Given the description of an element on the screen output the (x, y) to click on. 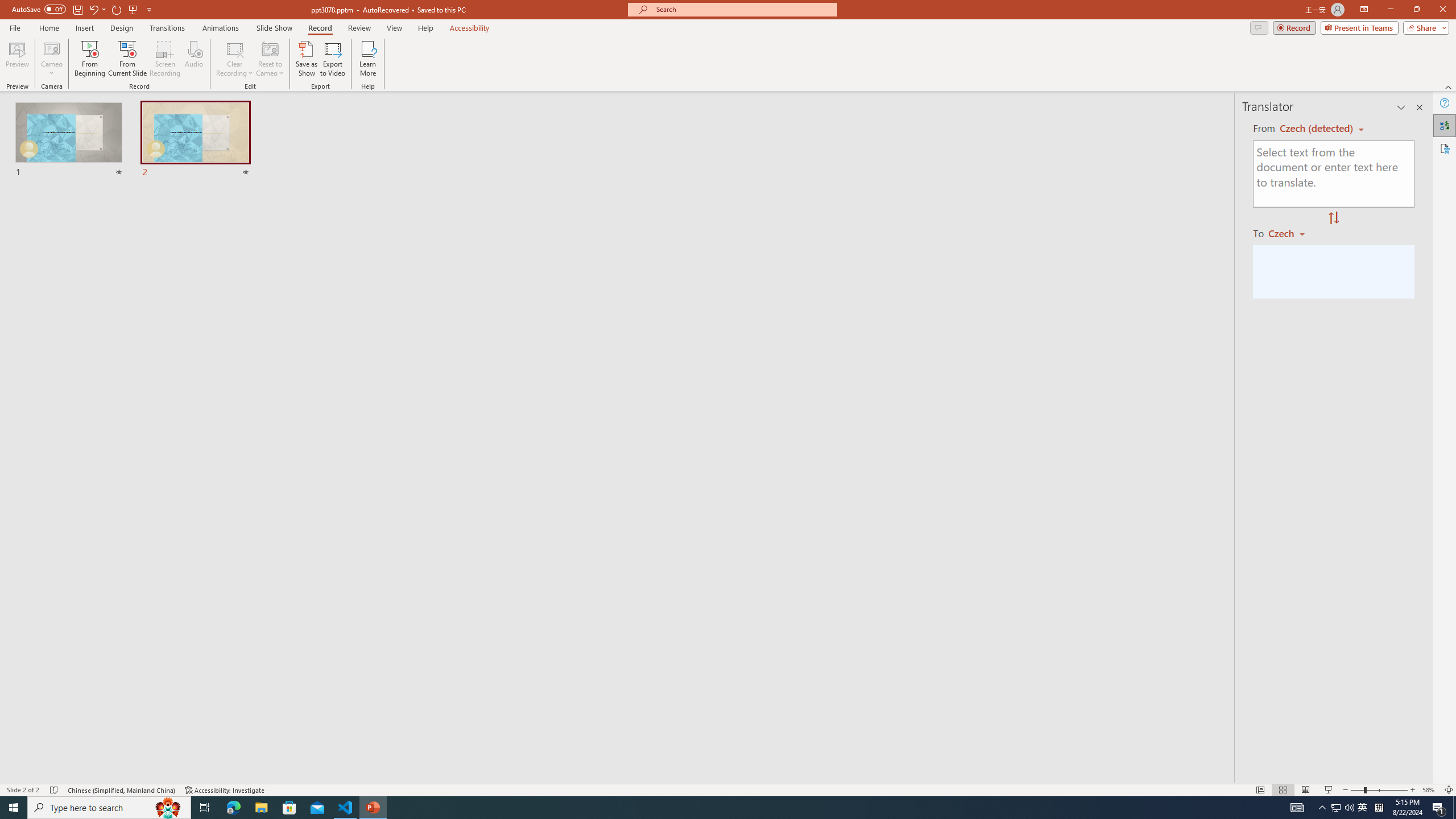
Screen Recording (165, 58)
Export to Video (332, 58)
From Current Slide... (127, 58)
